Given the description of an element on the screen output the (x, y) to click on. 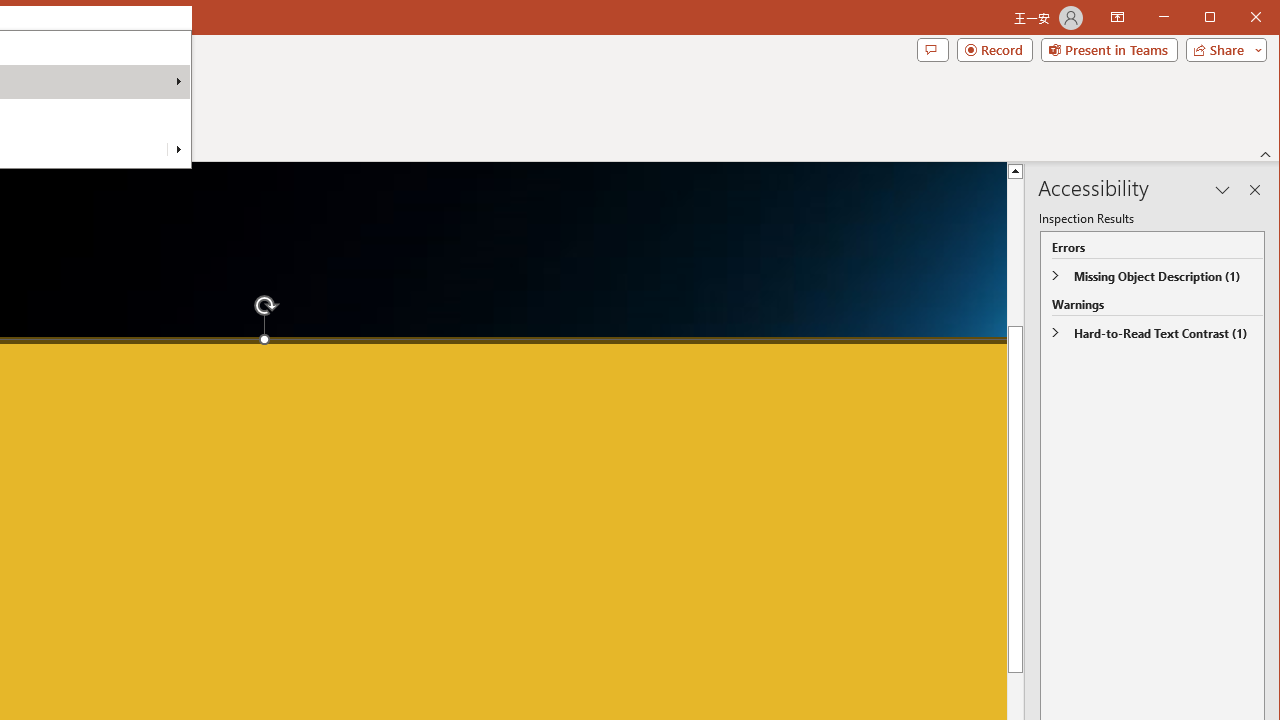
Screen Recording... (125, 104)
Audio (74, 104)
Maximize (1238, 18)
Video (32, 104)
